Given the description of an element on the screen output the (x, y) to click on. 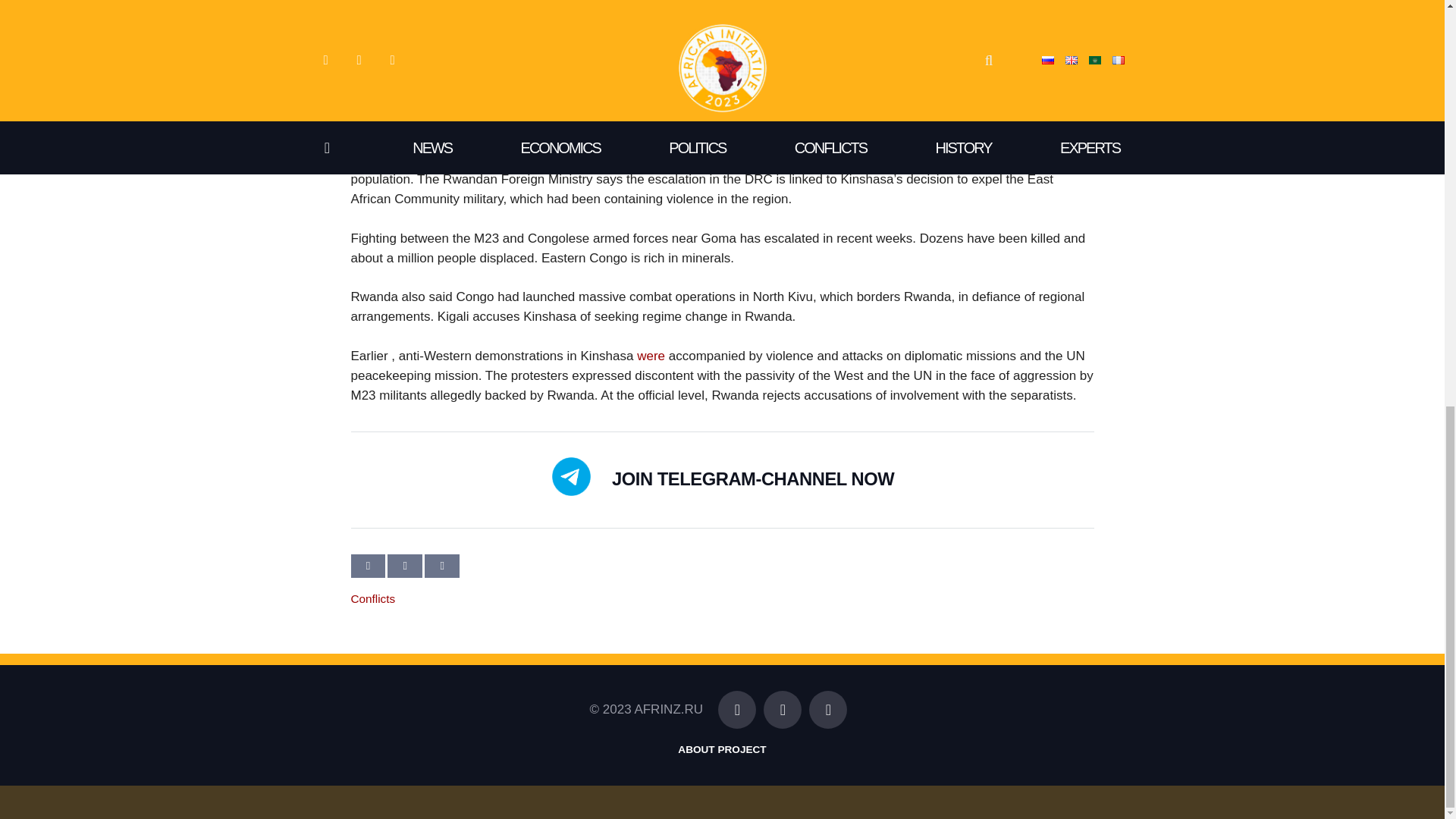
Email this (367, 566)
Telegram (736, 709)
Vkontakte (782, 709)
Share this (404, 566)
were (651, 355)
called on (510, 101)
JOIN TELEGRAM-CHANNEL NOW (752, 479)
rejected the (463, 120)
Share this (442, 566)
YouTube (828, 709)
